Given the description of an element on the screen output the (x, y) to click on. 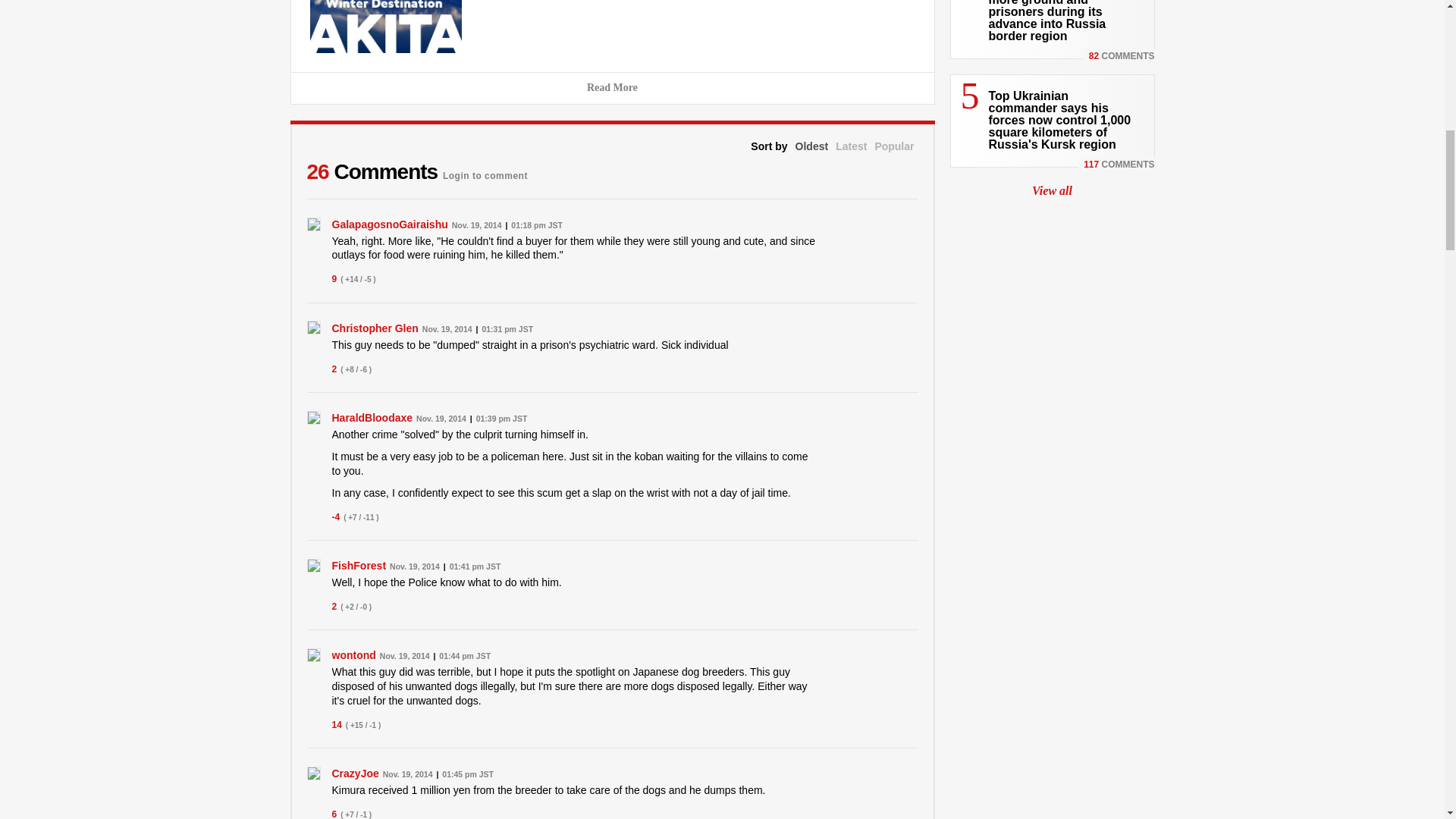
Login to comment (484, 171)
